Given the description of an element on the screen output the (x, y) to click on. 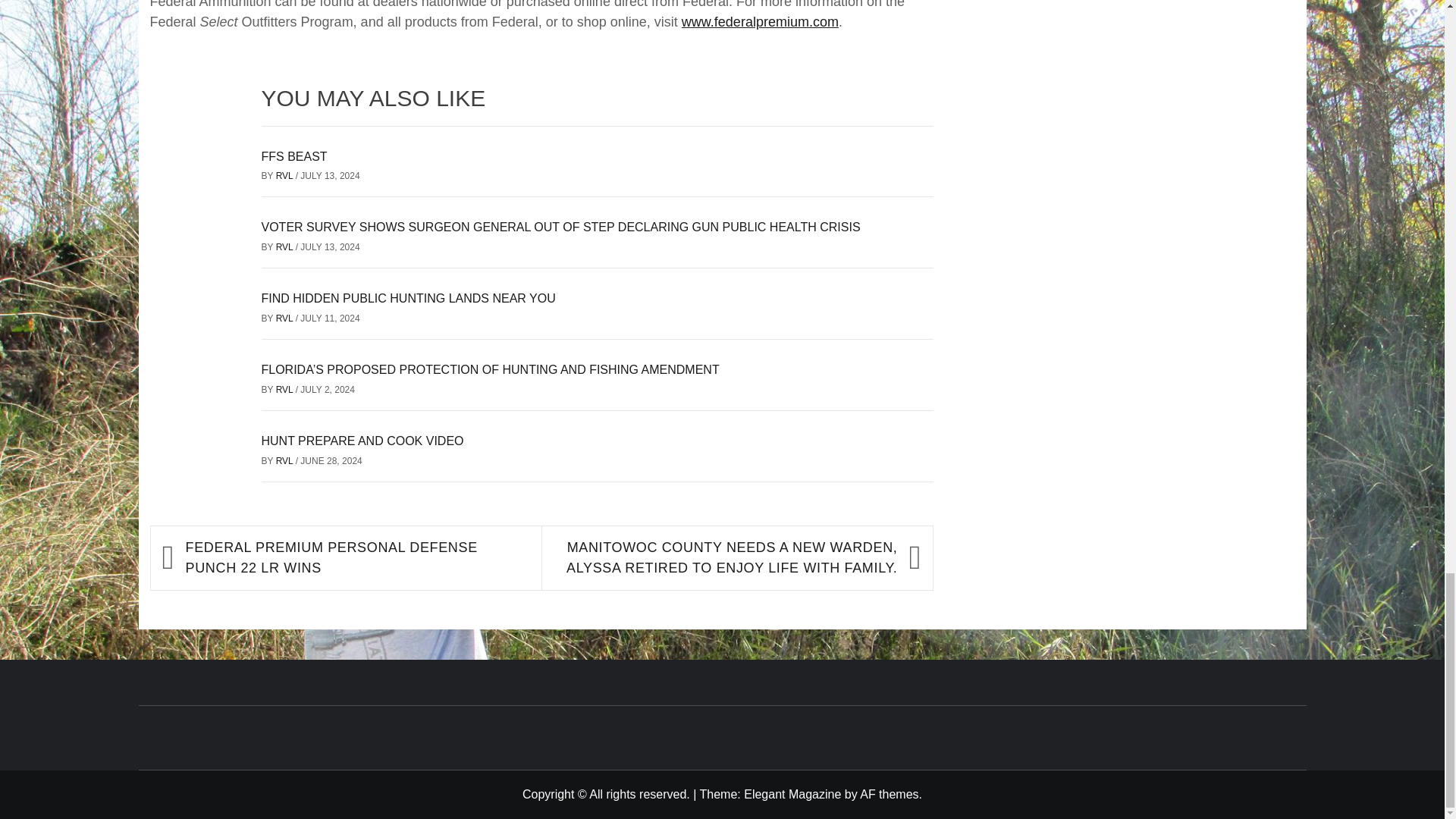
FFS BEAST (293, 155)
RVL (285, 389)
AF themes (889, 793)
RVL (285, 460)
Elegant Magazine (792, 793)
RVL (285, 175)
RVL (285, 246)
www.federalpremium.com (759, 21)
RVL (285, 317)
FEDERAL PREMIUM PERSONAL DEFENSE PUNCH 22 LR WINS (355, 557)
FIND HIDDEN PUBLIC HUNTING LANDS NEAR YOU (407, 297)
HUNT PREPARE AND COOK VIDEO (361, 440)
